Given the description of an element on the screen output the (x, y) to click on. 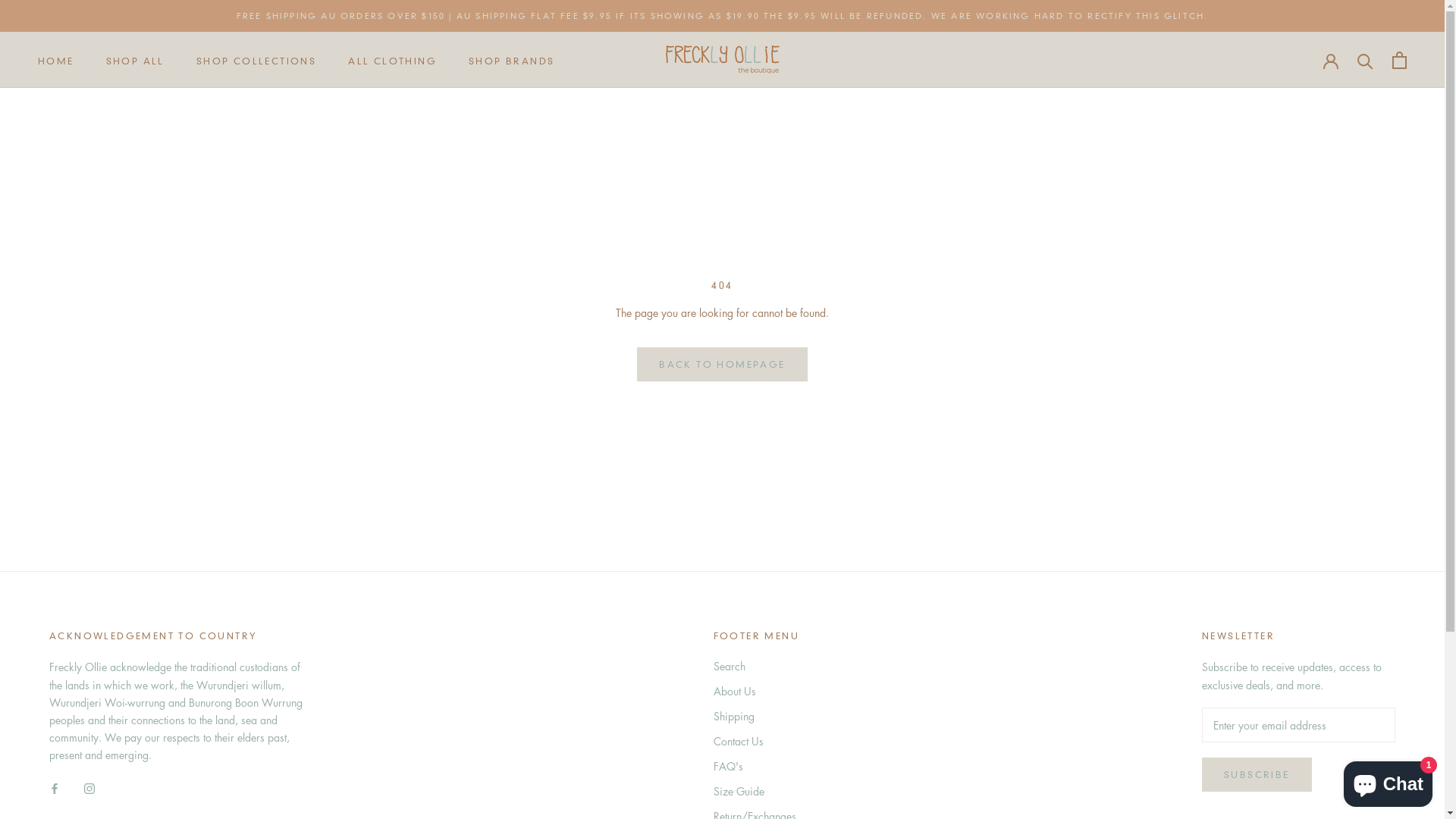
Search Element type: text (757, 666)
Shipping Element type: text (757, 716)
Shopify online store chat Element type: hover (1388, 780)
HOME
HOME Element type: text (55, 60)
SHOP ALL
SHOP ALL Element type: text (135, 60)
ALL CLOTHING Element type: text (392, 60)
BACK TO HOMEPAGE Element type: text (721, 364)
FAQ's Element type: text (757, 766)
Size Guide Element type: text (757, 791)
SHOP COLLECTIONS Element type: text (256, 60)
Contact Us Element type: text (757, 741)
About Us Element type: text (757, 691)
SHOP BRANDS Element type: text (511, 60)
SUBSCRIBE Element type: text (1256, 774)
